Given the description of an element on the screen output the (x, y) to click on. 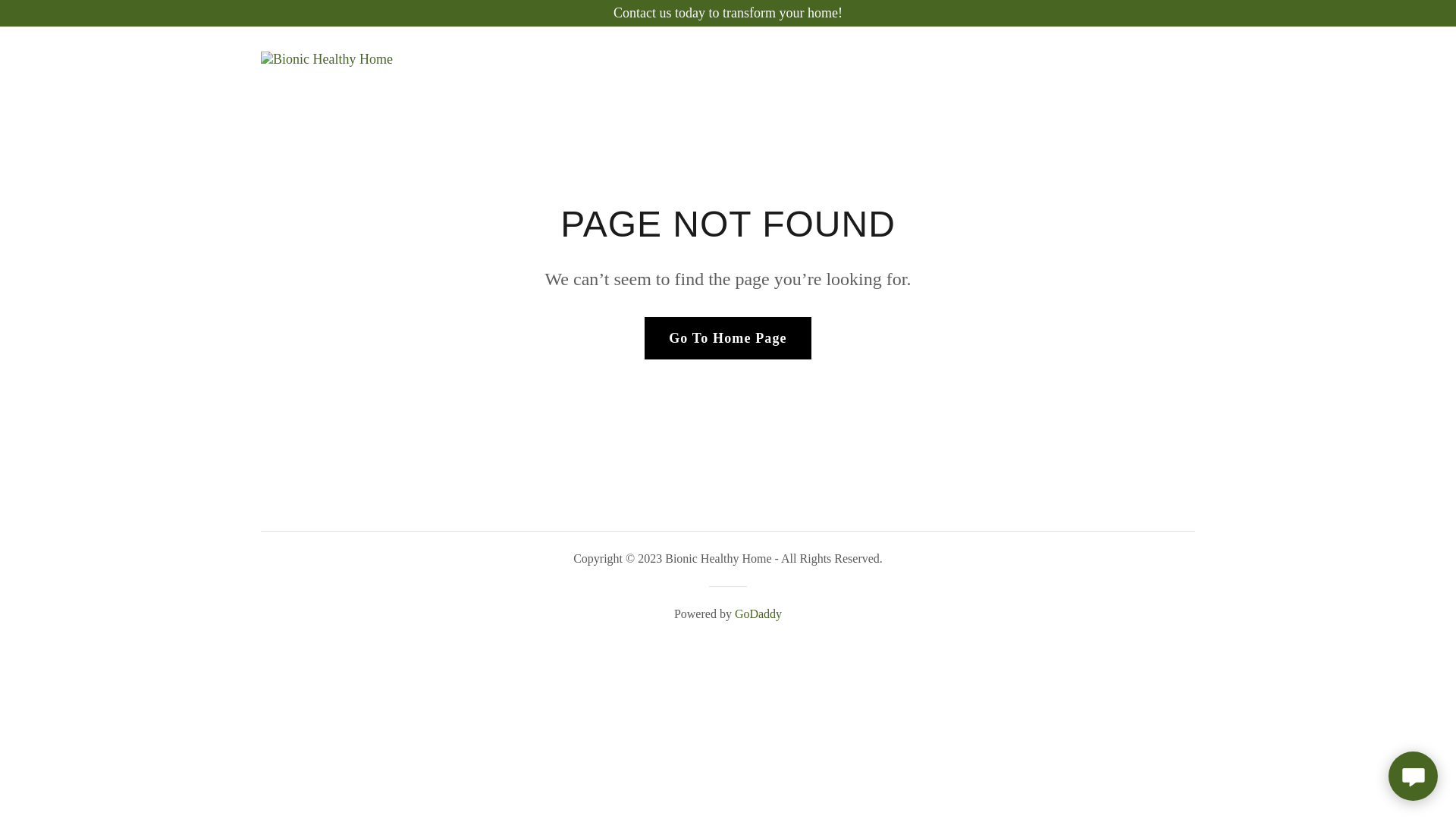
Go To Home Page Element type: text (727, 337)
Bionic Healthy Home Element type: hover (326, 57)
GoDaddy Element type: text (757, 613)
